Given the description of an element on the screen output the (x, y) to click on. 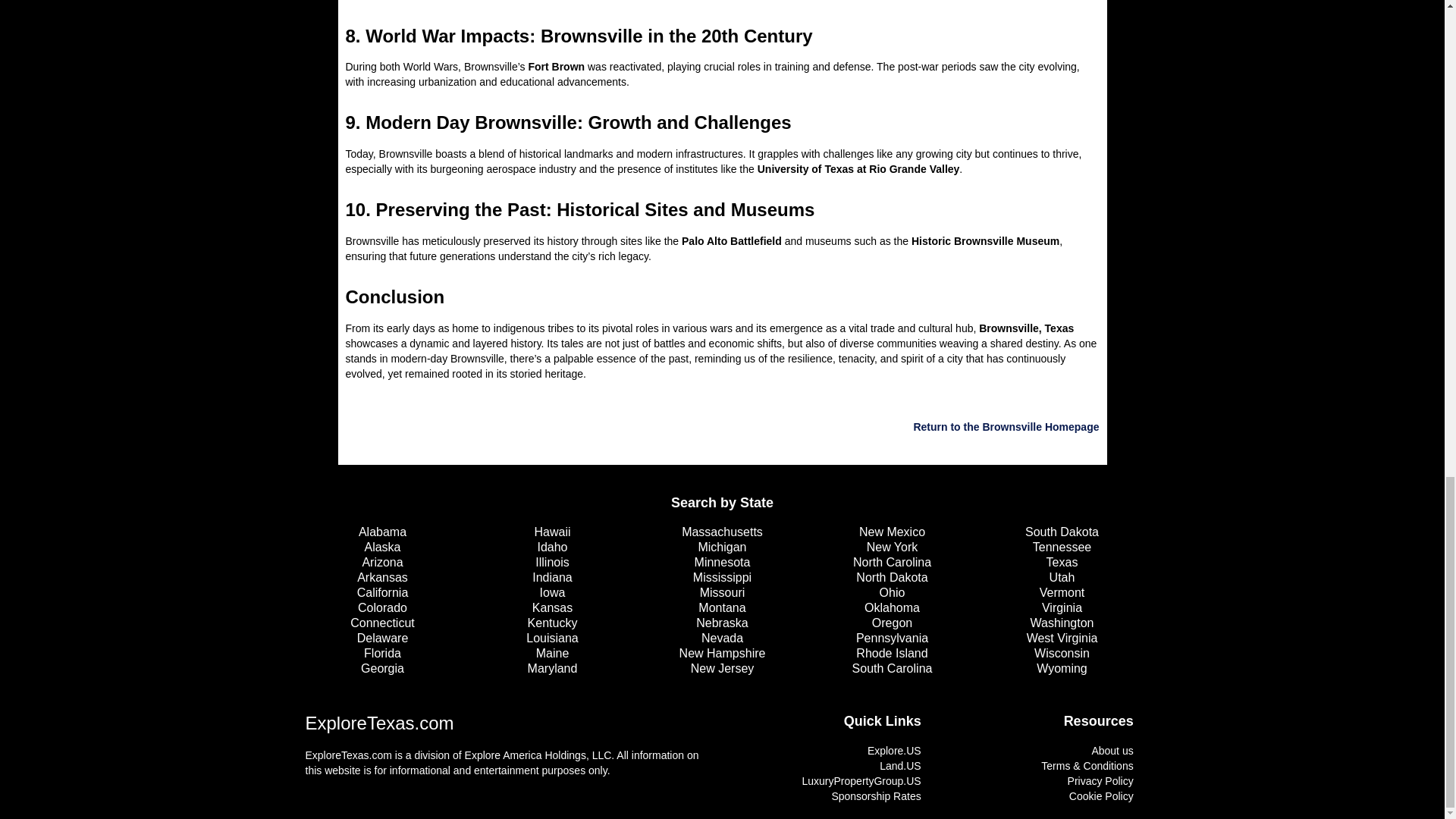
Alaska (382, 547)
Maryland (551, 668)
Iowa (551, 592)
Georgia (382, 668)
Mississippi (722, 577)
Alabama (382, 531)
Colorado (382, 607)
Indiana (551, 577)
Louisiana (551, 638)
Maine (551, 653)
